Given the description of an element on the screen output the (x, y) to click on. 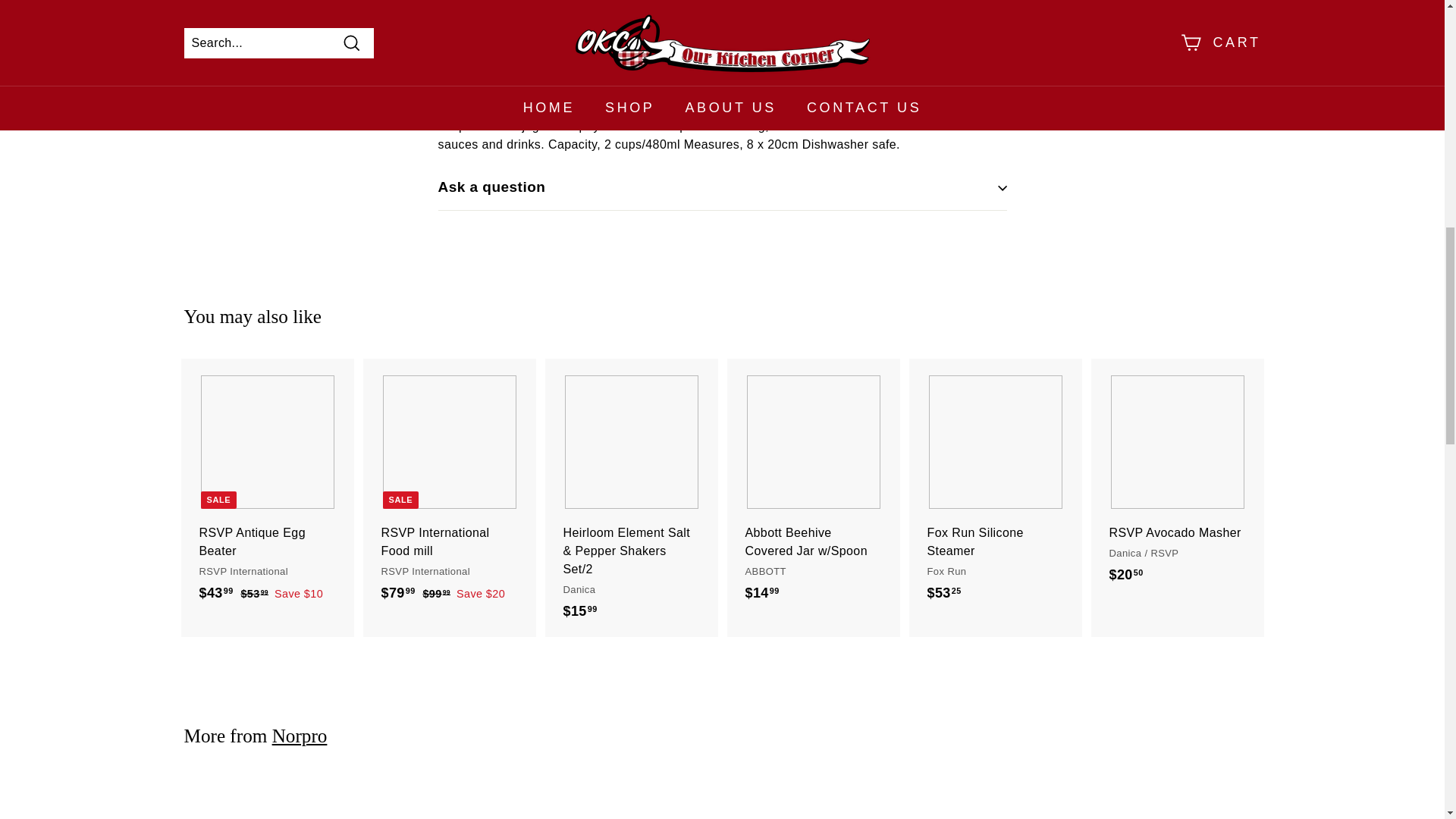
Norpro (299, 735)
Share on Facebook (794, 59)
